Given the description of an element on the screen output the (x, y) to click on. 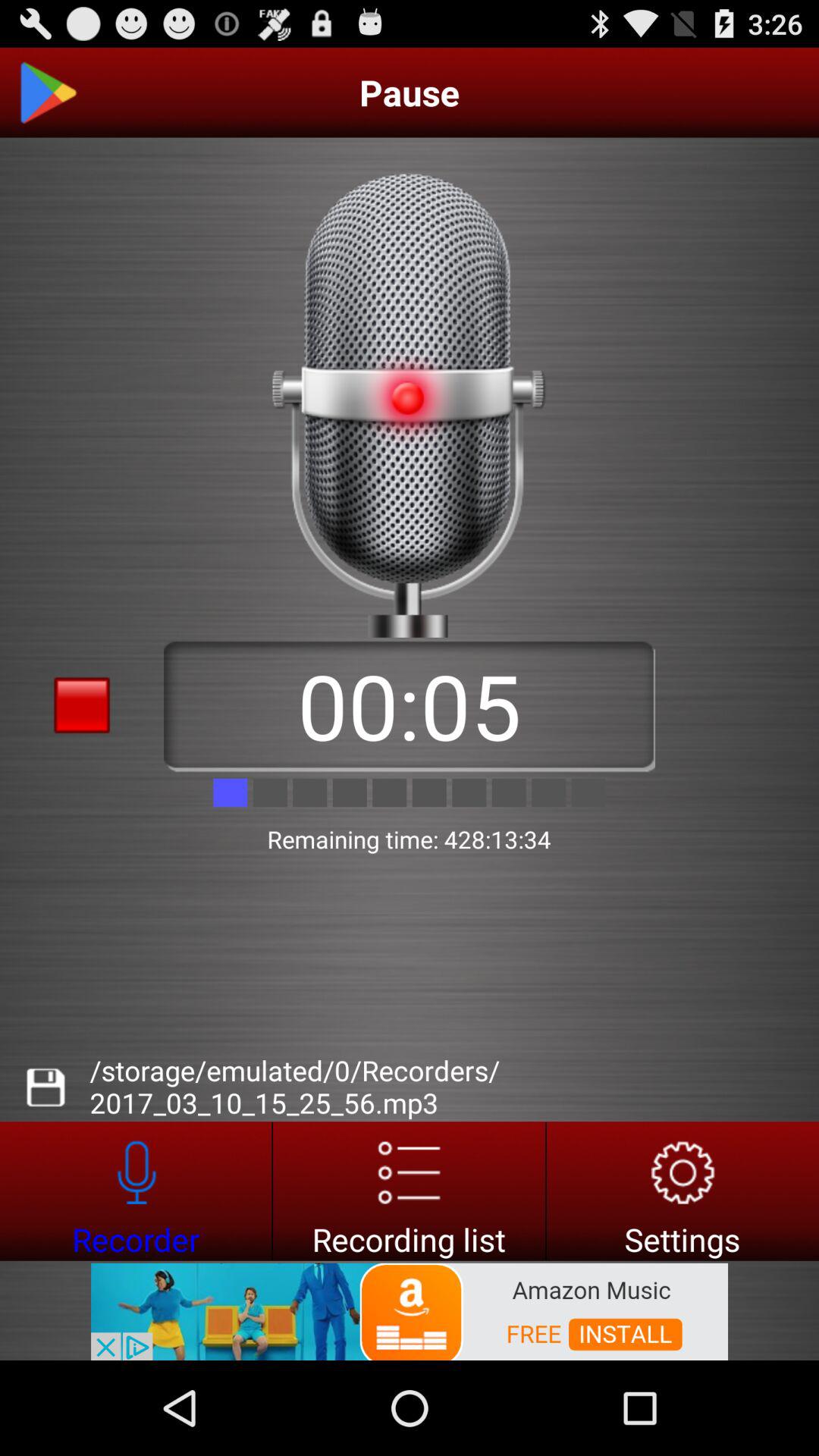
recorder button (135, 1190)
